Given the description of an element on the screen output the (x, y) to click on. 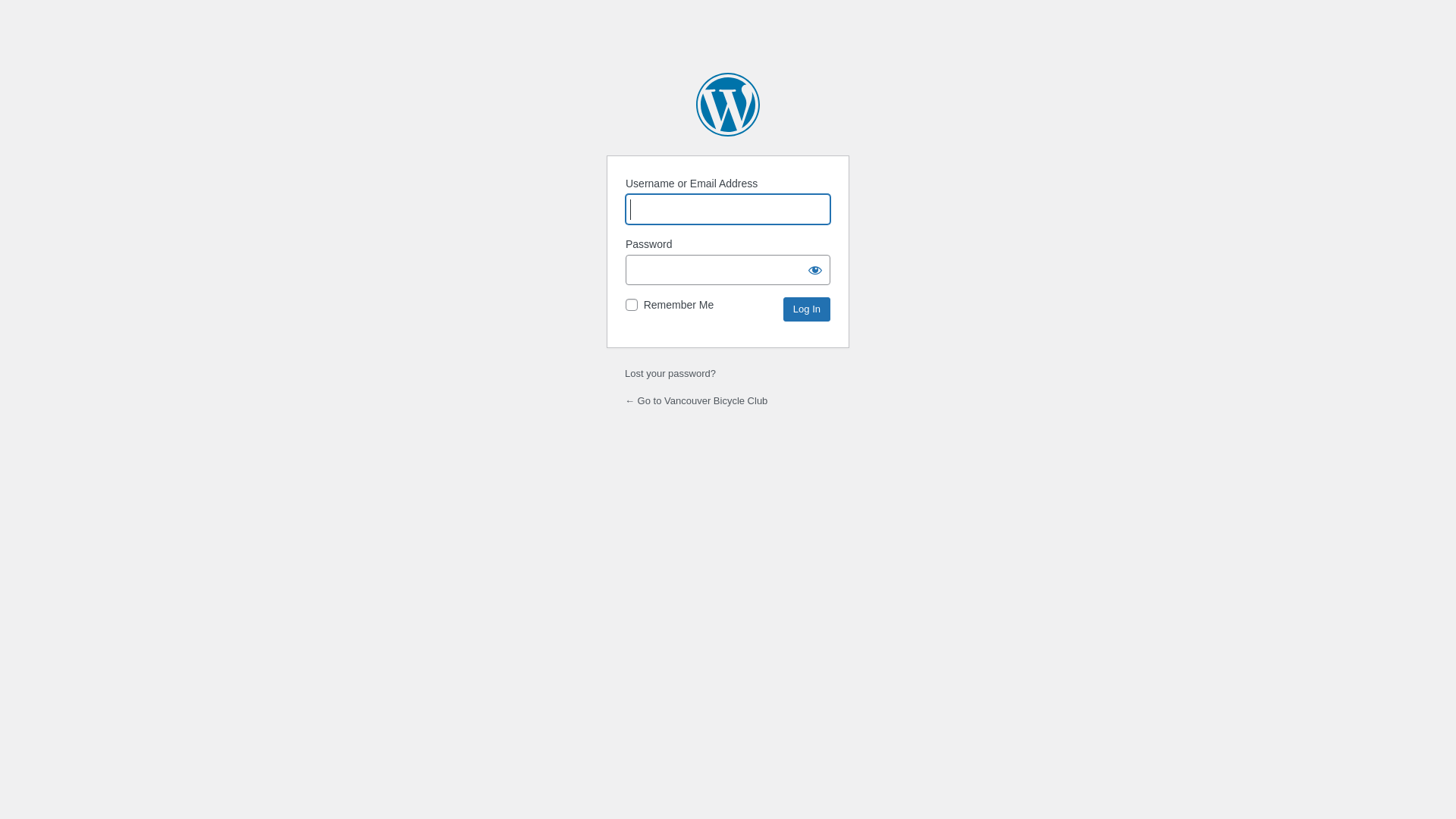
Log In Element type: text (806, 309)
Lost your password? Element type: text (669, 373)
Powered by WordPress Element type: text (727, 104)
